Given the description of an element on the screen output the (x, y) to click on. 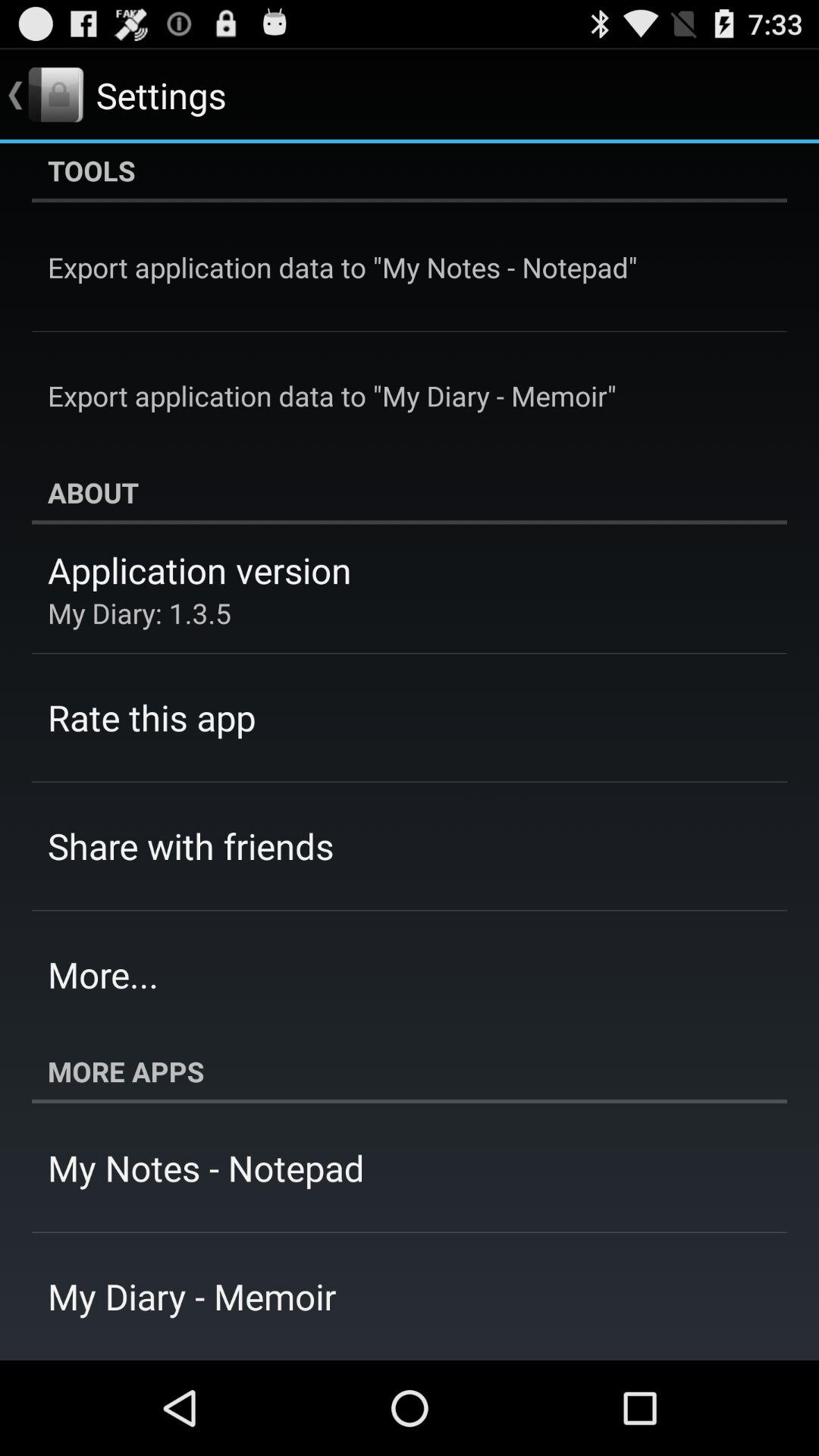
click rate this app item (151, 717)
